Given the description of an element on the screen output the (x, y) to click on. 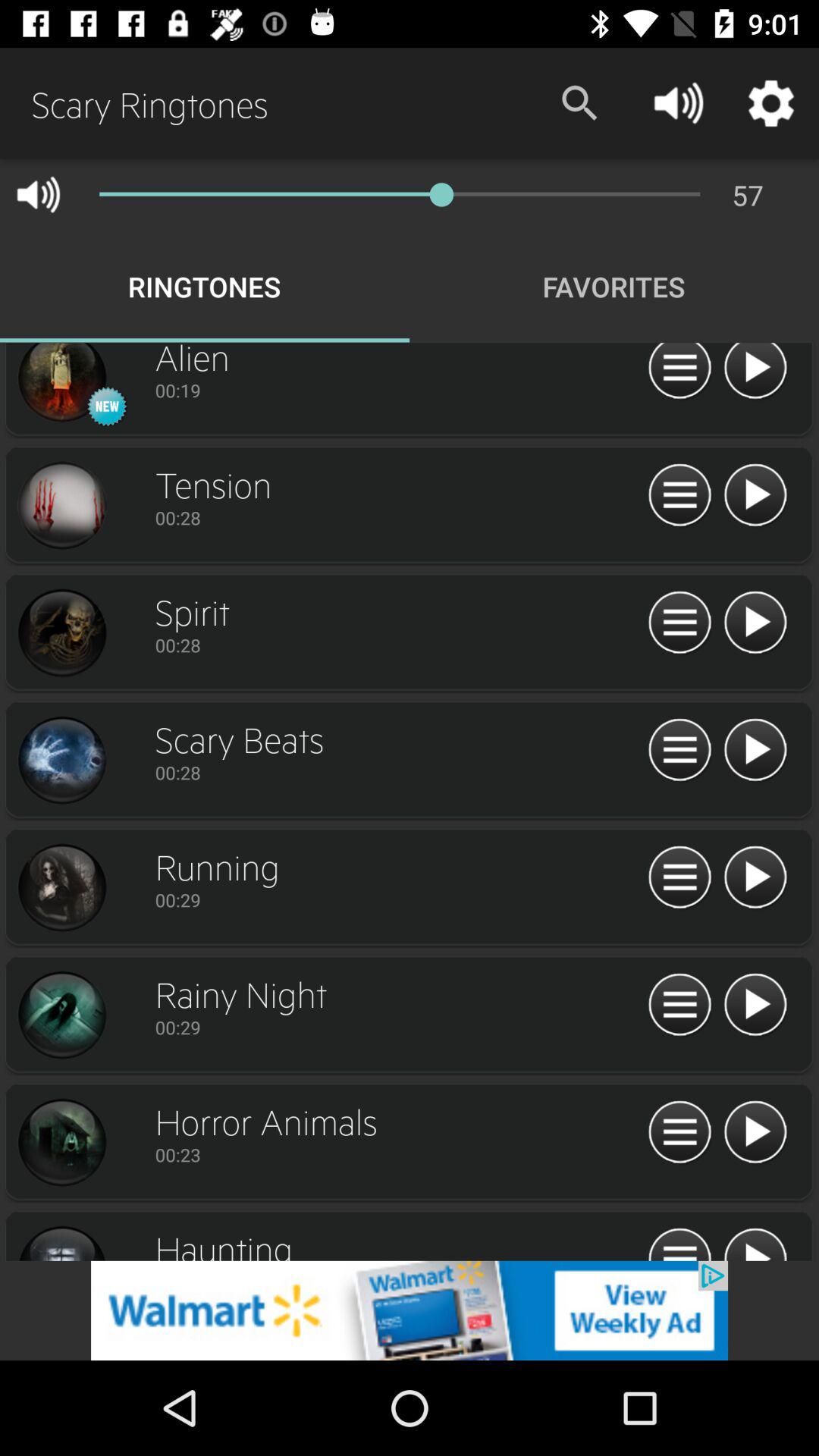
view image (61, 888)
